Given the description of an element on the screen output the (x, y) to click on. 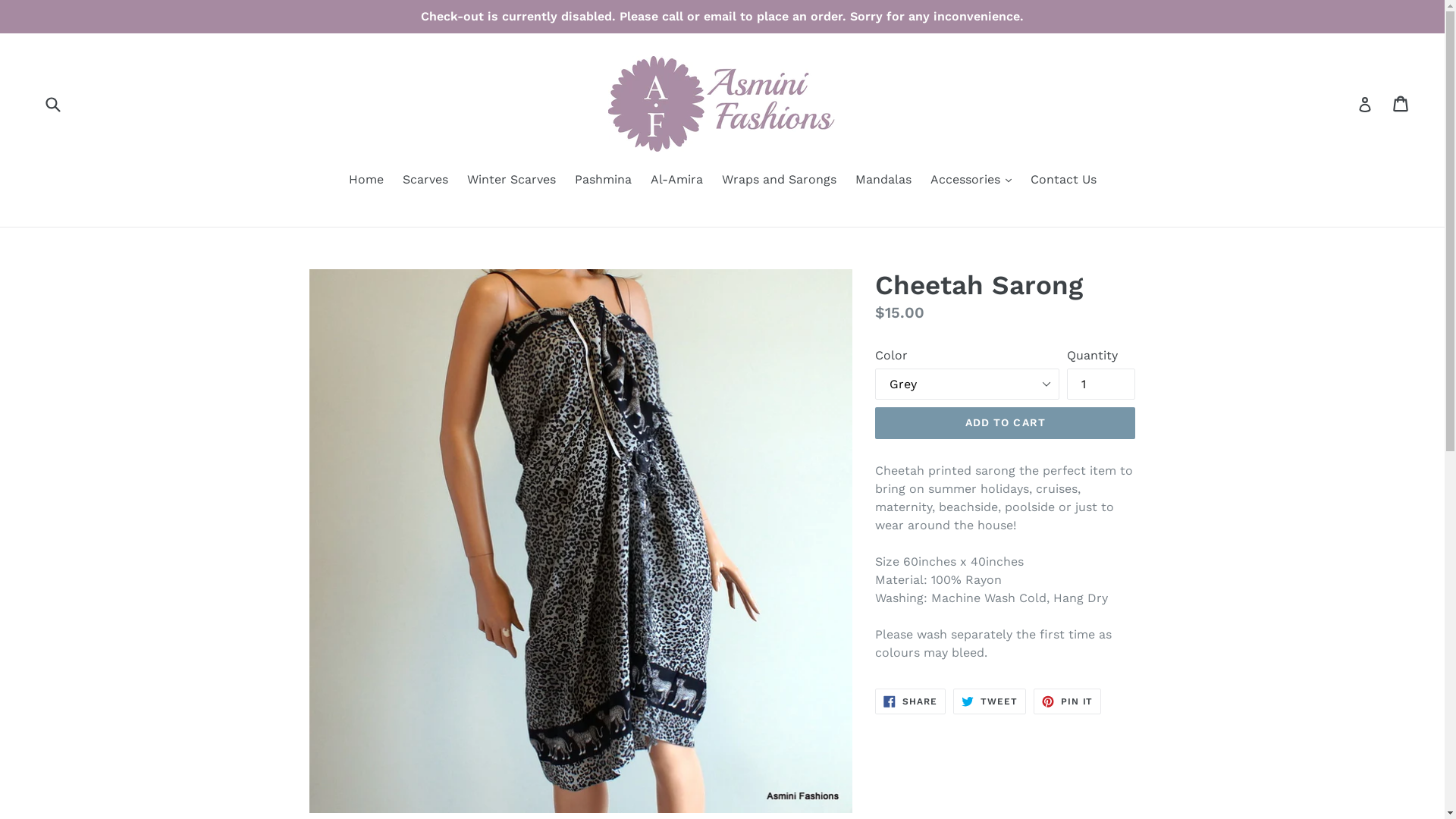
Submit Element type: text (51, 103)
Log in Element type: text (1364, 103)
Pashmina Element type: text (603, 180)
Wraps and Sarongs Element type: text (779, 180)
ADD TO CART Element type: text (1005, 423)
Home Element type: text (366, 180)
SHARE
SHARE ON FACEBOOK Element type: text (910, 701)
Mandalas Element type: text (883, 180)
Contact Us Element type: text (1062, 180)
Cart
Cart Element type: text (1401, 103)
Scarves Element type: text (424, 180)
TWEET
TWEET ON TWITTER Element type: text (989, 701)
Winter Scarves Element type: text (511, 180)
Al-Amira Element type: text (676, 180)
PIN IT
PIN ON PINTEREST Element type: text (1067, 701)
